Given the description of an element on the screen output the (x, y) to click on. 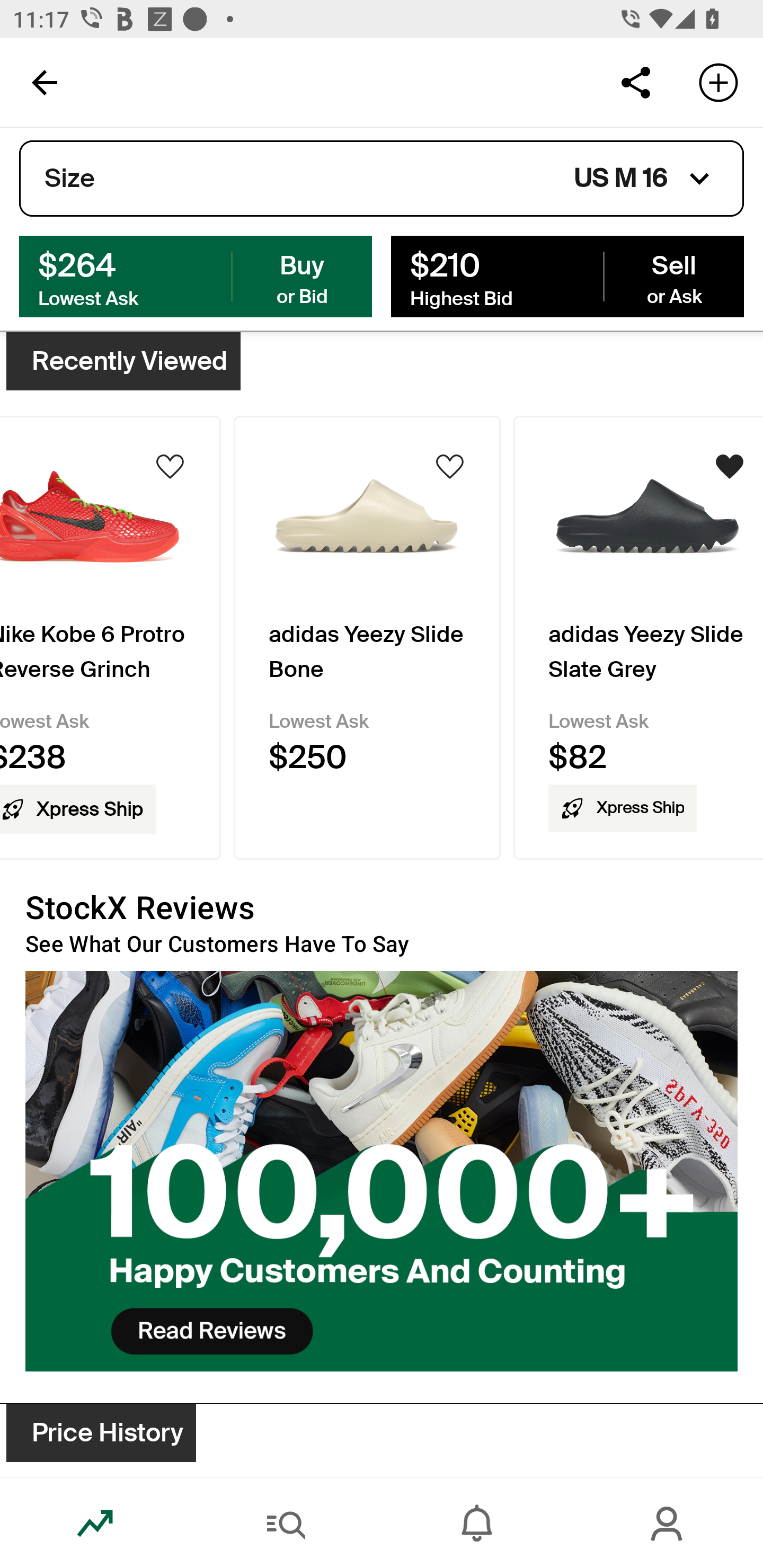
Share (635, 81)
Add (718, 81)
Size US M 16 (381, 178)
$264 Buy Lowest Ask or Bid (195, 275)
$210 Sell Highest Bid or Ask (566, 275)
Search (285, 1523)
Inbox (476, 1523)
Account (667, 1523)
